Given the description of an element on the screen output the (x, y) to click on. 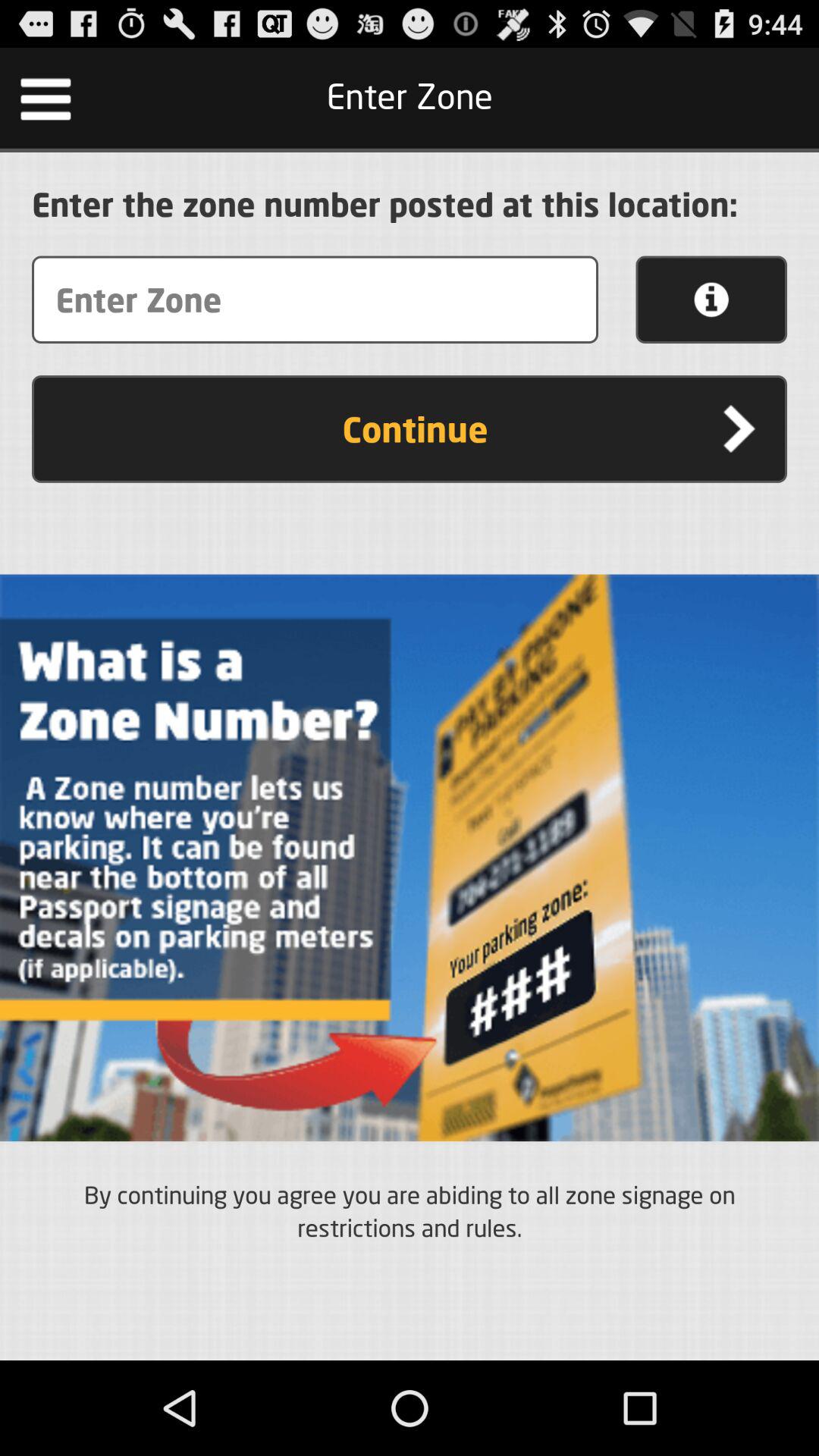
tap the icon at the top left corner (45, 97)
